Given the description of an element on the screen output the (x, y) to click on. 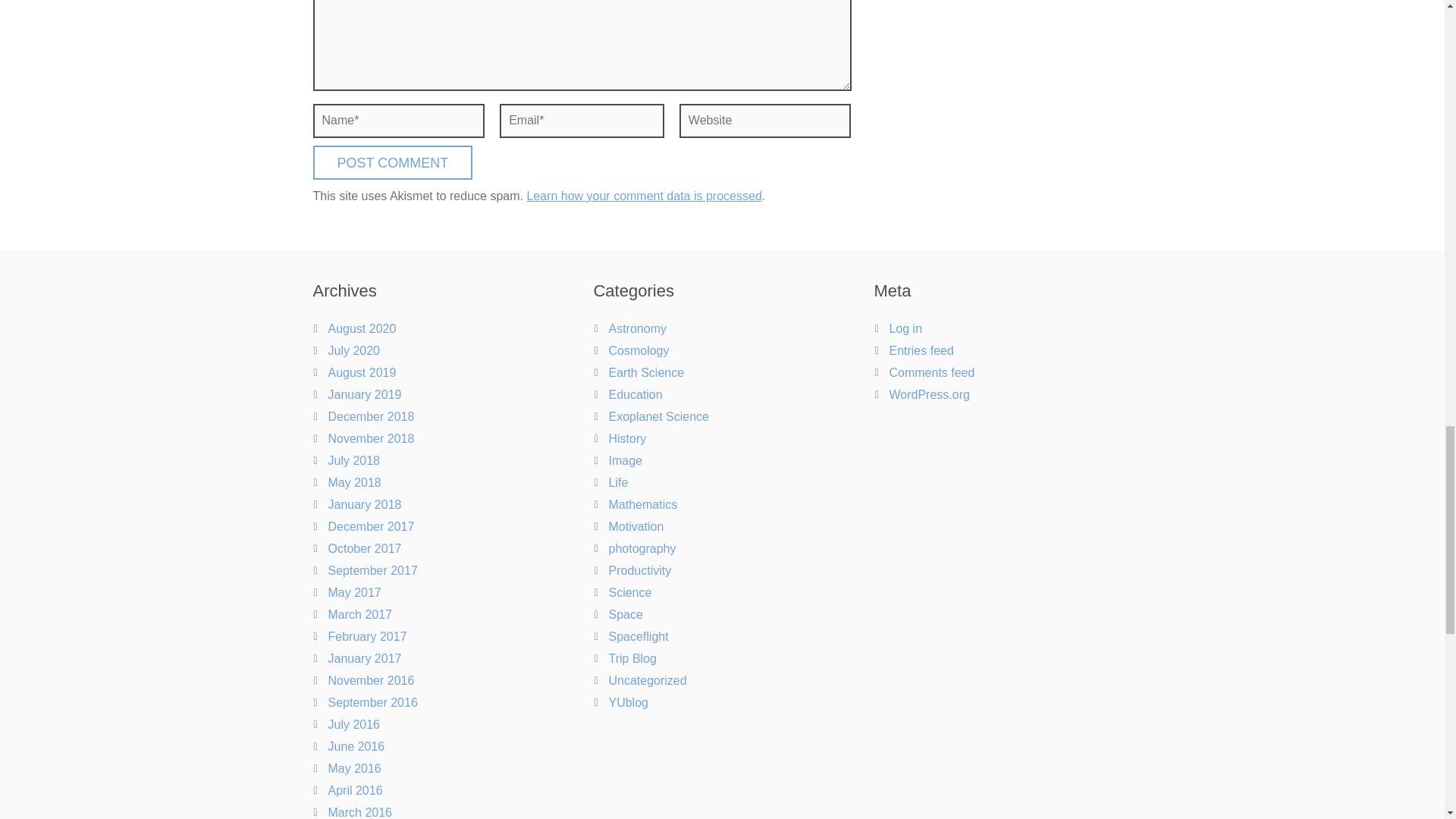
Post Comment (392, 162)
Learn how your comment data is processed (643, 195)
Post Comment (392, 162)
